Given the description of an element on the screen output the (x, y) to click on. 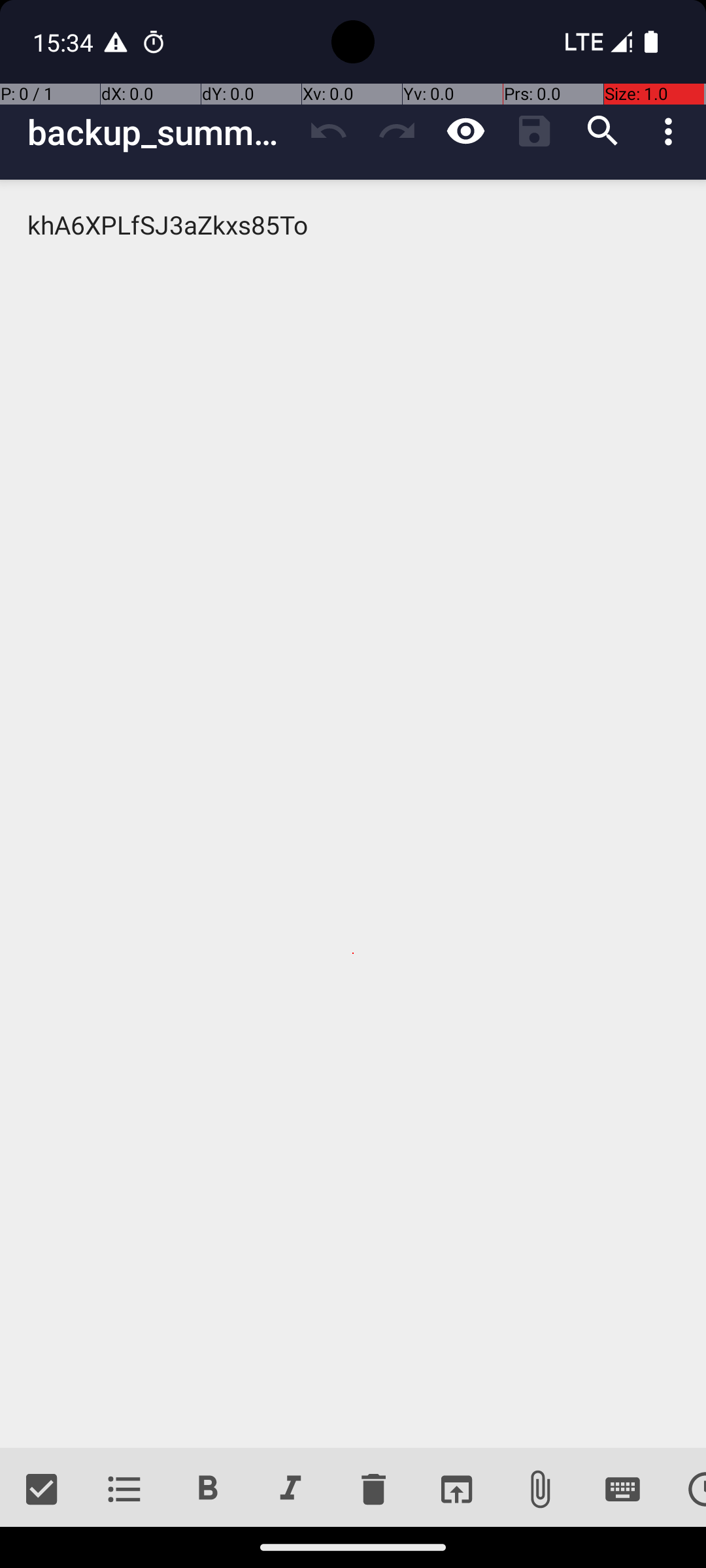
backup_summer_vacation_plans Element type: android.widget.TextView (160, 131)
khA6XPLfSJ3aZkxs85To
 Element type: android.widget.EditText (353, 813)
